Given the description of an element on the screen output the (x, y) to click on. 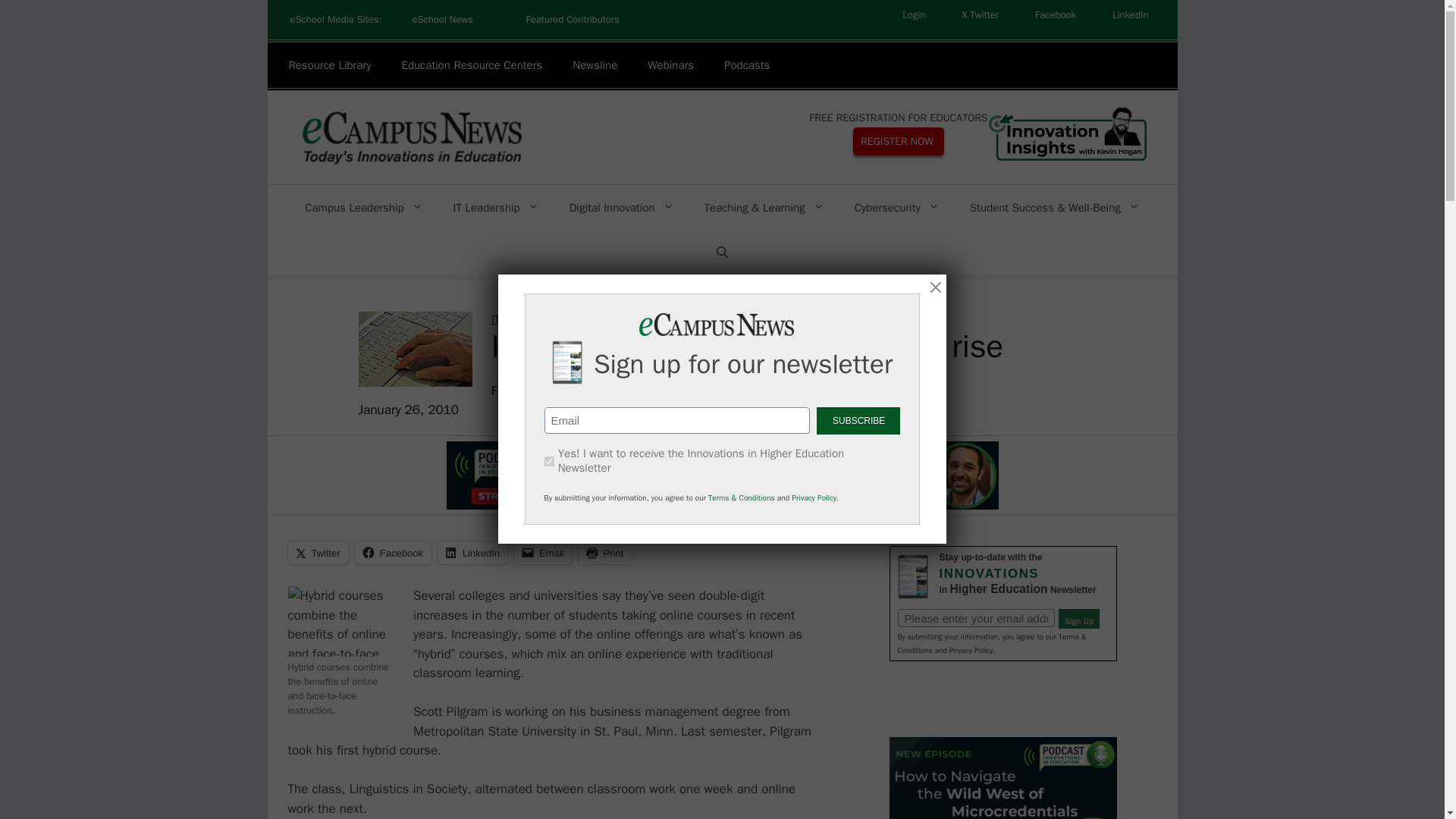
eCampus News (410, 136)
LinkedIn (1130, 15)
LinkedIn (1130, 15)
200 (549, 461)
Login (913, 15)
Click to email a link to a friend (542, 552)
eSchool News (441, 19)
Click to share on LinkedIn (473, 552)
REGISTER NOW  (898, 141)
X Twitter (979, 15)
Podcasts (746, 64)
Click to share on Facebook (392, 552)
Resource Library (329, 64)
Education Resource Centers (472, 64)
Twitter (979, 15)
